Given the description of an element on the screen output the (x, y) to click on. 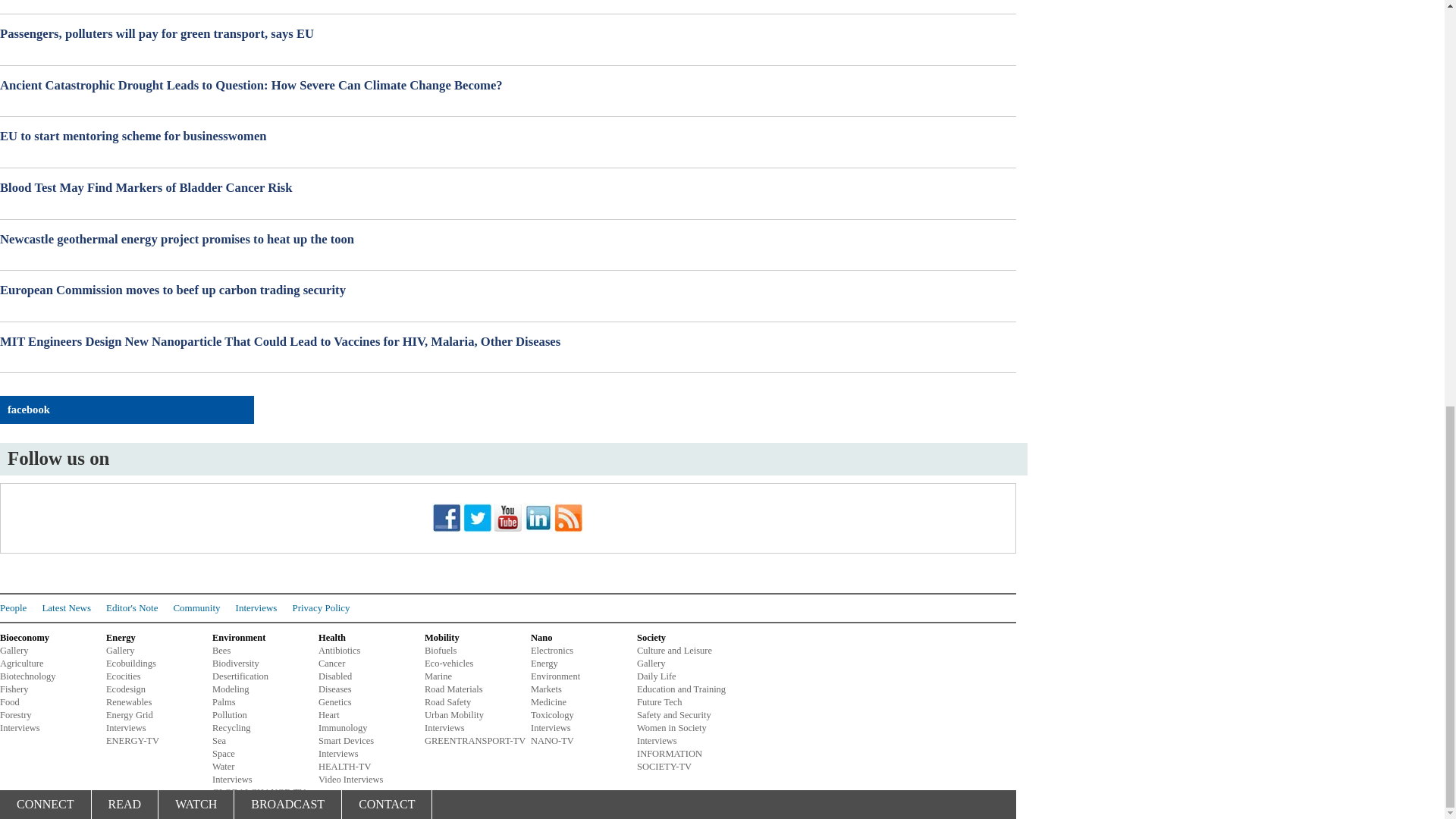
Blood Test May Find Markers of Bladder Cancer Risk (508, 187)
twitter (477, 529)
BROADCAST (288, 6)
CONTACT (387, 6)
Youtube (507, 517)
READ (124, 6)
CONNECT (45, 6)
European Commission moves to beef up carbon trading security (508, 289)
Facebook (446, 517)
EU to start mentoring scheme for businesswomen (508, 135)
WATCH (196, 6)
Twitter (477, 517)
